Given the description of an element on the screen output the (x, y) to click on. 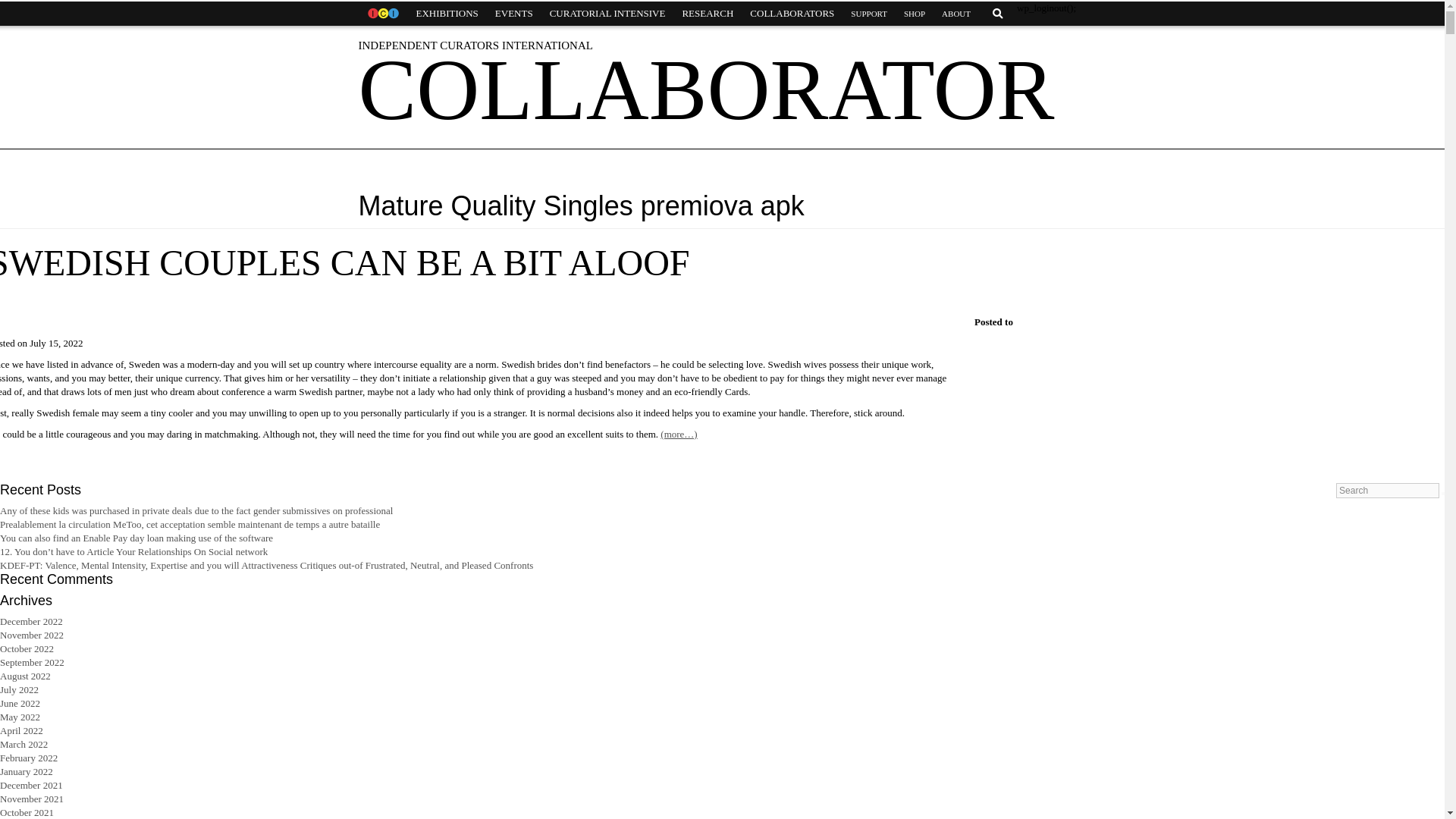
HOME (382, 13)
RESEARCH (706, 13)
EXHIBITIONS (446, 13)
COLLABORATORS (792, 13)
CURATORIAL INTENSIVE (607, 13)
EVENTS (513, 13)
